Given the description of an element on the screen output the (x, y) to click on. 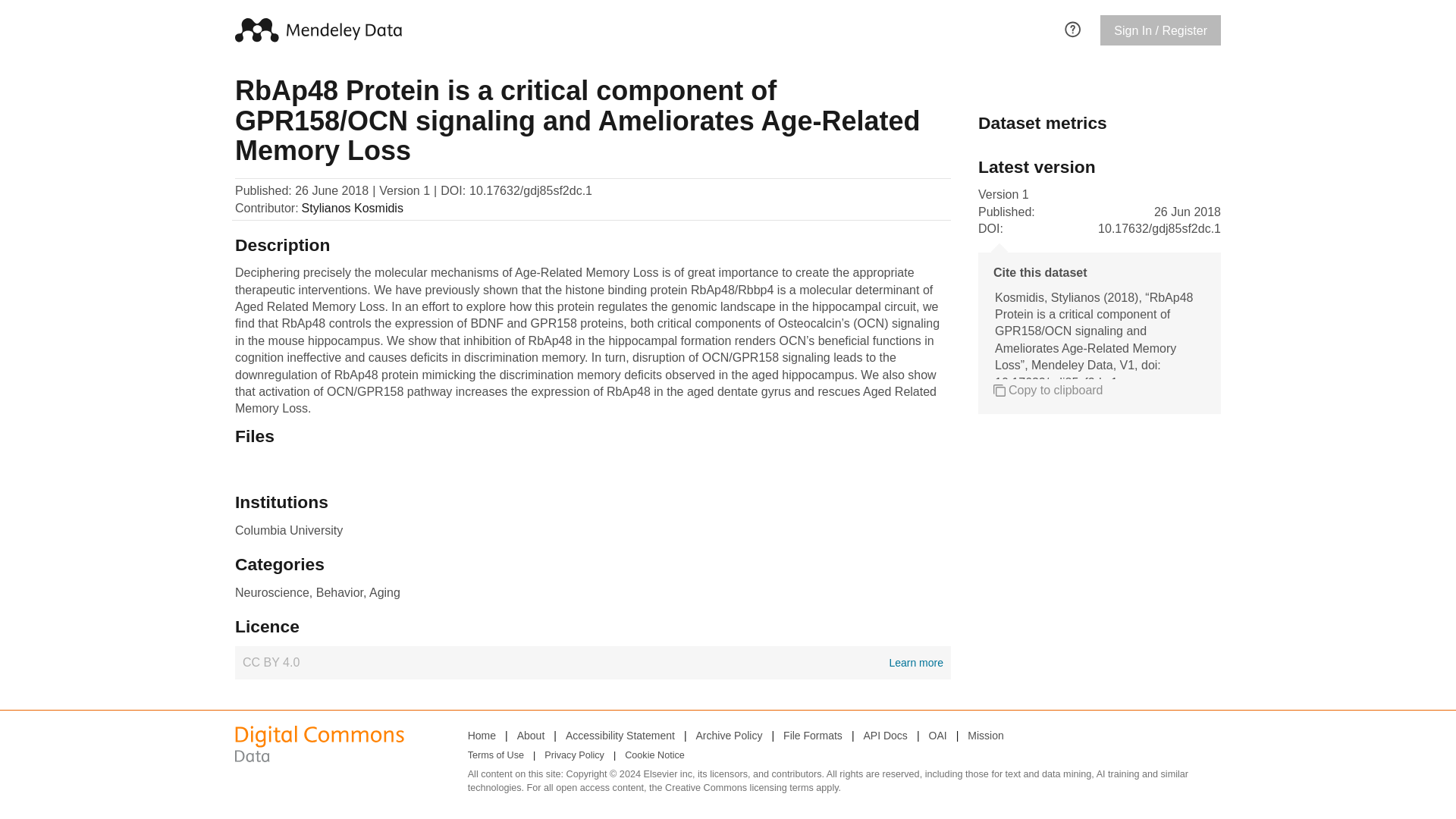
Privacy Policy (574, 755)
Archive Policy (728, 735)
API Docs (885, 735)
Accessibility Statement (620, 735)
Cookie Notice (654, 755)
About (530, 735)
Home (481, 735)
File Formats (813, 735)
Copy to clipboard (1047, 390)
FAQ (1072, 27)
